Given the description of an element on the screen output the (x, y) to click on. 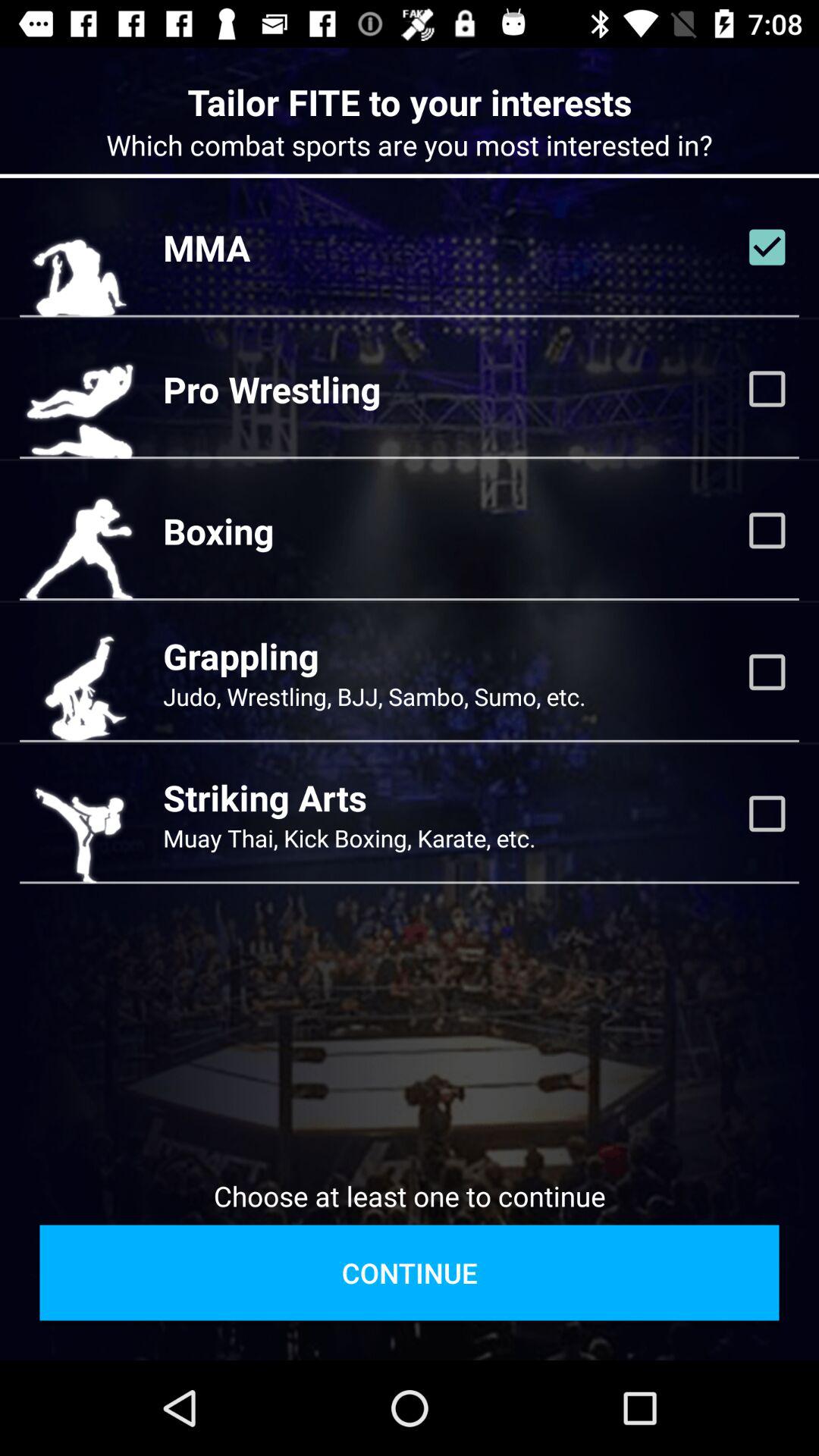
scroll to grappling (241, 655)
